Given the description of an element on the screen output the (x, y) to click on. 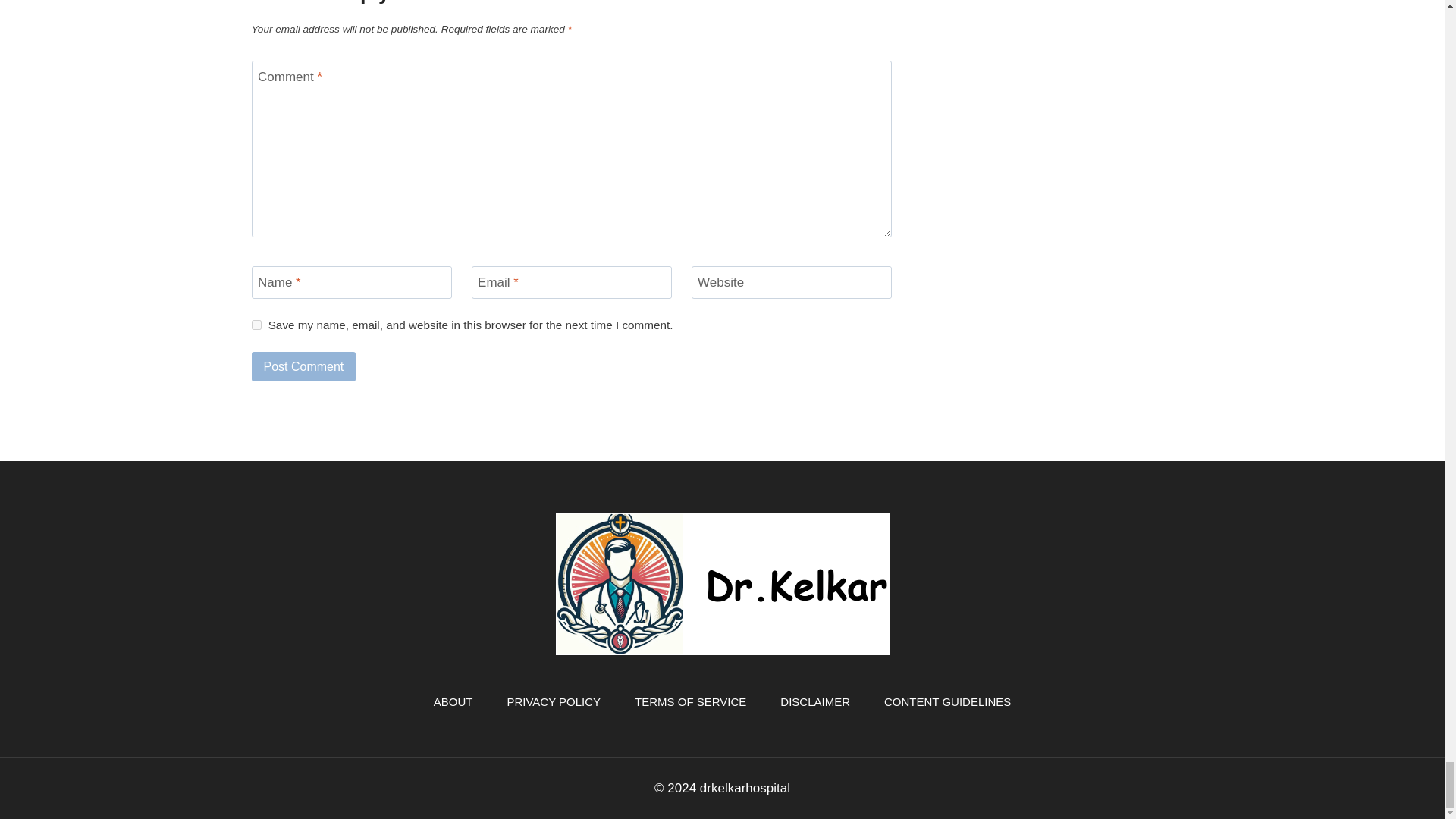
Post Comment (303, 366)
yes (256, 325)
